Given the description of an element on the screen output the (x, y) to click on. 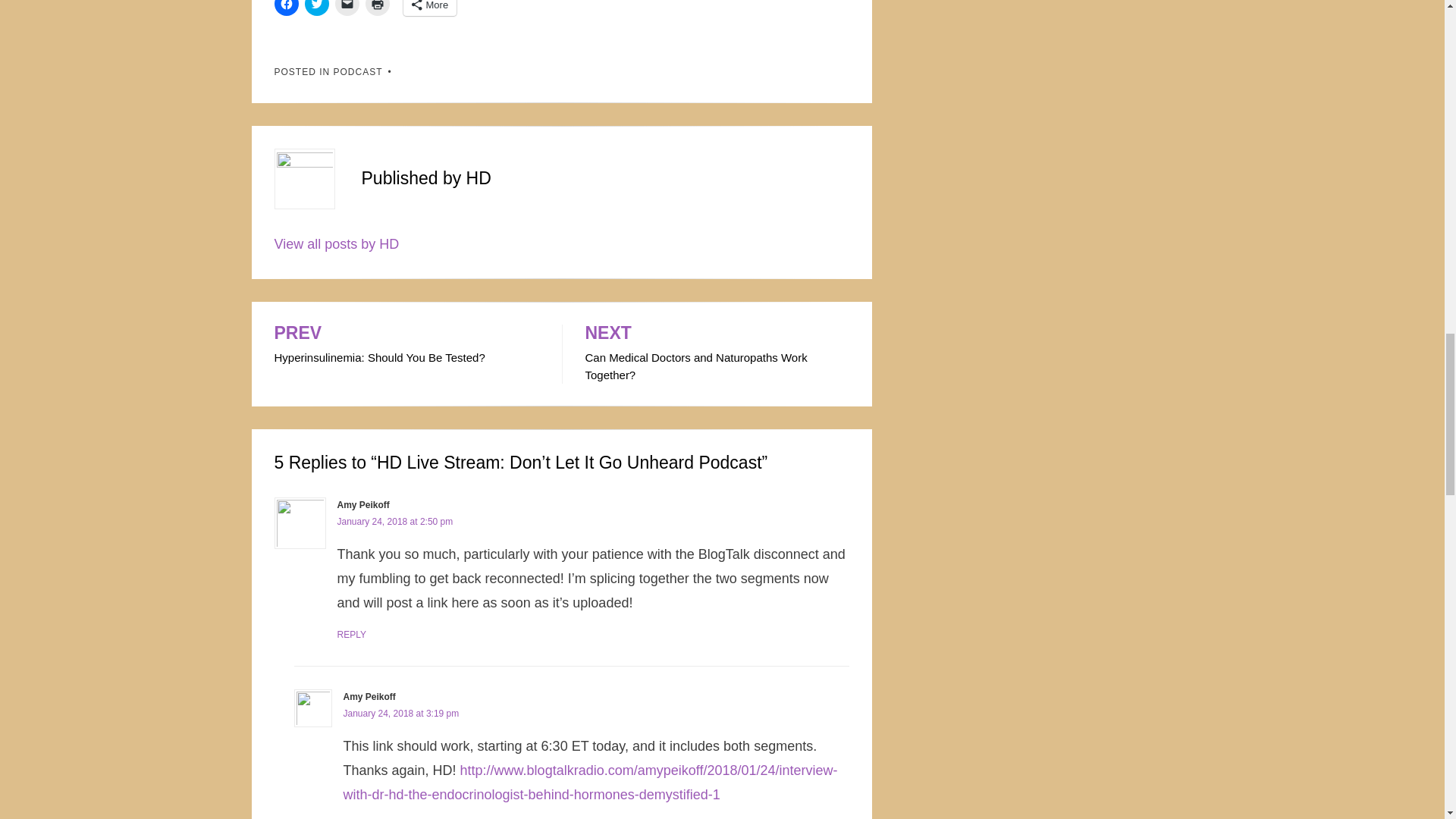
Amy Peikoff (368, 696)
View all posts by HD (336, 243)
Click to share on Facebook (286, 7)
Amy Peikoff (362, 504)
PODCAST (357, 71)
Click to share on Twitter (316, 7)
More (430, 7)
January 24, 2018 at 3:19 pm (400, 713)
Click to email a link to a friend (716, 354)
